Given the description of an element on the screen output the (x, y) to click on. 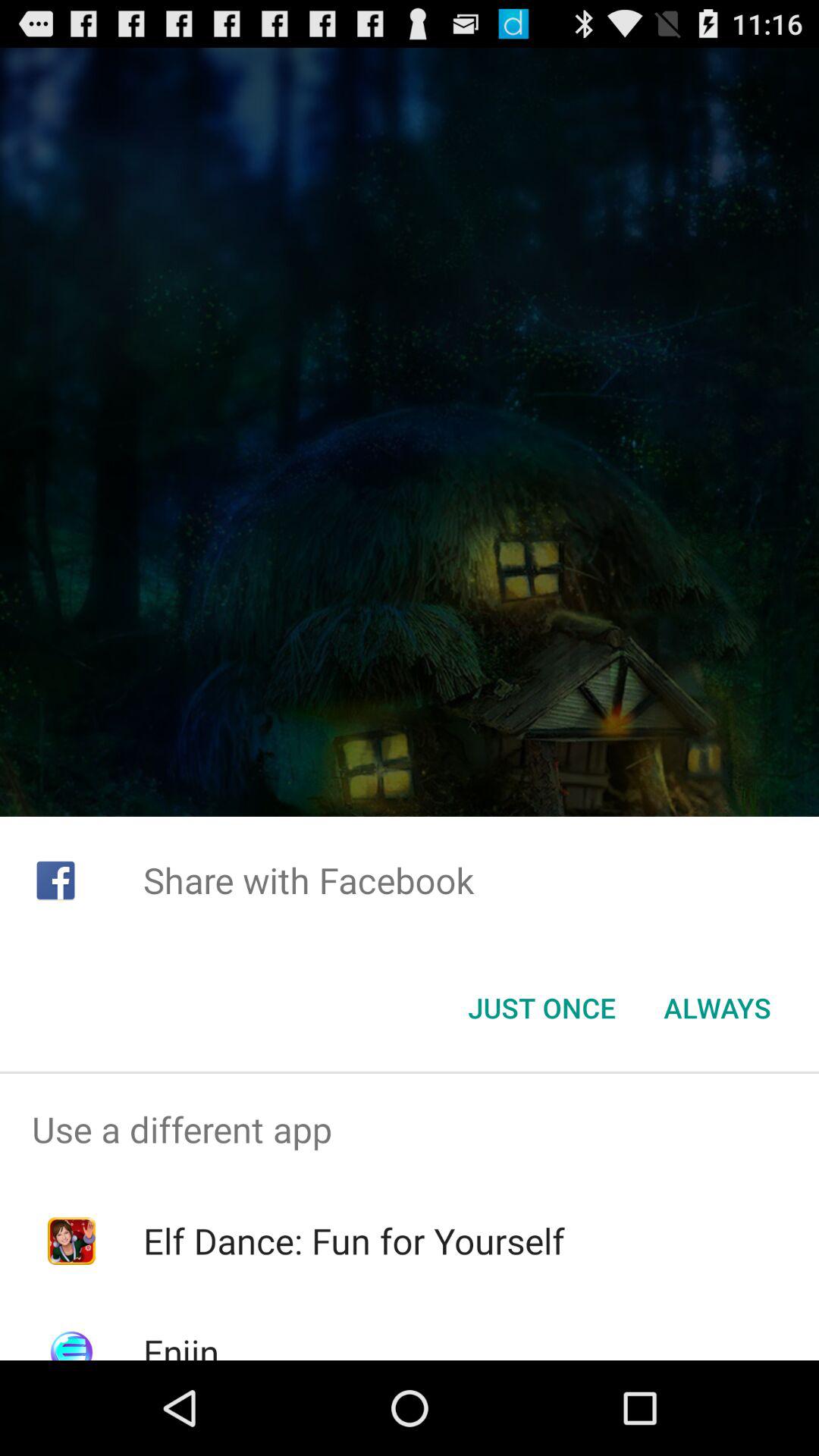
click the always at the bottom right corner (717, 1007)
